Given the description of an element on the screen output the (x, y) to click on. 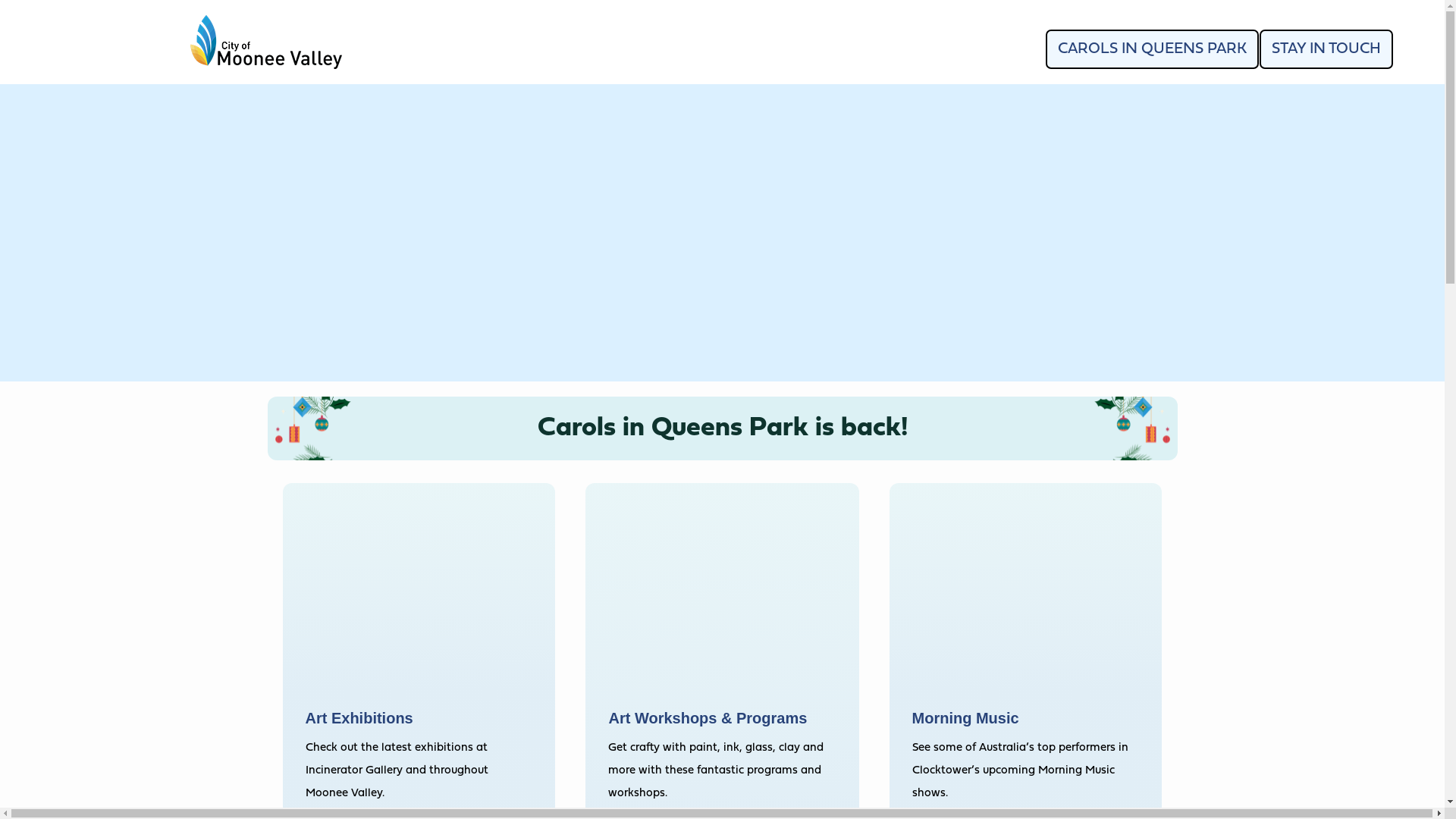
Art workshops 1 Element type: hover (721, 596)
Whats on header banner 3 Element type: hover (722, 232)
Morning Music Whats on MV Tile Element type: hover (1025, 596)
Carols in Queens Park is back! Element type: text (721, 428)
CAROLS IN QUEENS PARK Element type: text (1151, 49)
MVCC logo Element type: hover (266, 42)
STAY IN TOUCH Element type: text (1326, 49)
Art exhibitions Whats on MV Tile images Element type: hover (418, 596)
